Given the description of an element on the screen output the (x, y) to click on. 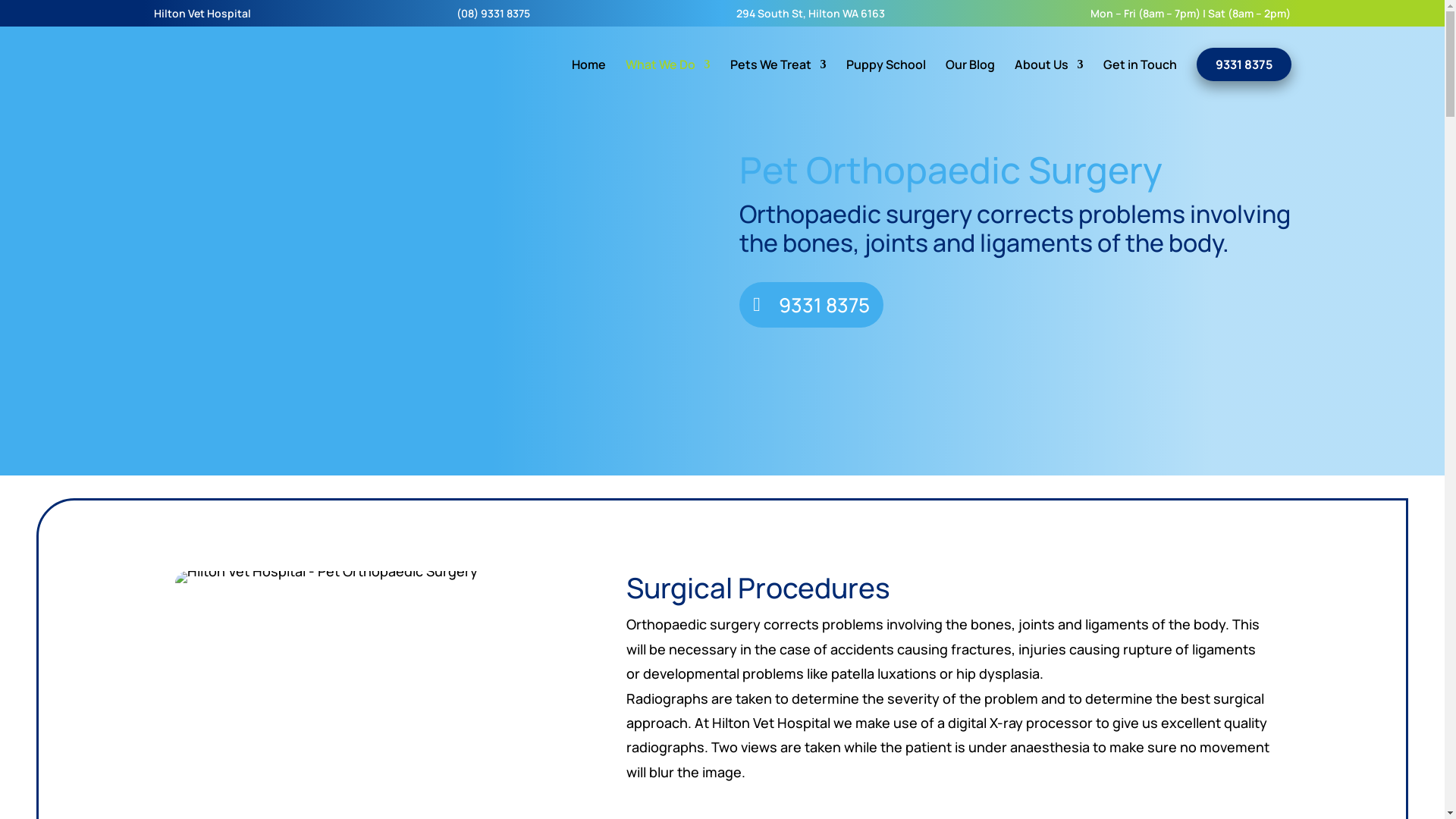
294 South St, Hilton WA 6163 Element type: text (810, 16)
What We Do Element type: text (666, 76)
Home Element type: text (588, 76)
Pets We Treat Element type: text (777, 76)
About Us Element type: text (1048, 76)
Hilton Vet Hospital Element type: text (201, 16)
Get in Touch Element type: text (1139, 76)
9331 8375 Element type: text (811, 304)
9331 8375 Element type: text (1243, 64)
Puppy School Element type: text (885, 76)
(08) 9331 8375 Element type: text (493, 16)
Our Blog Element type: text (969, 76)
Hilton Vet Hospital - Pet Orthopaedic Surgery Element type: hover (326, 577)
